Given the description of an element on the screen output the (x, y) to click on. 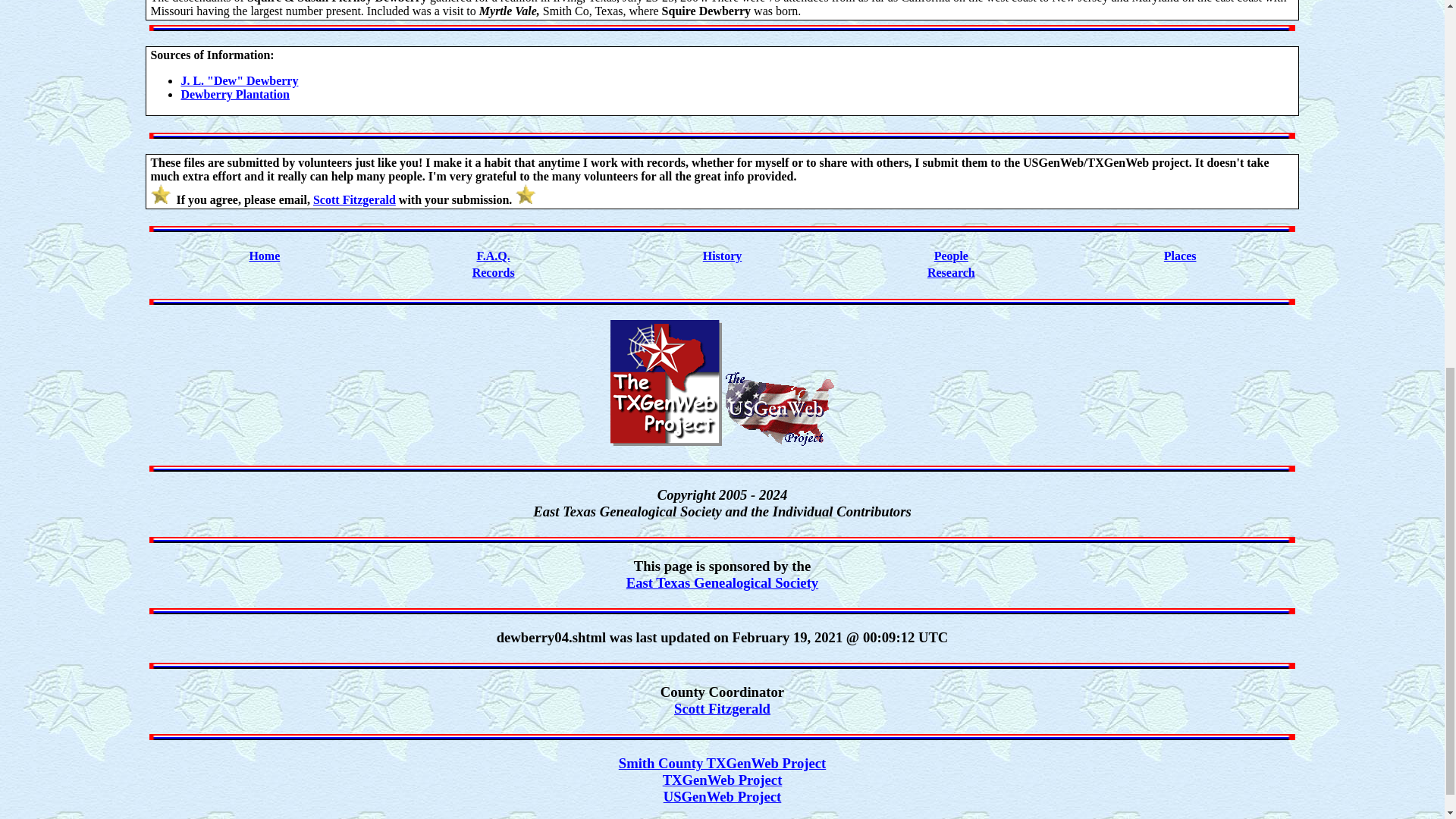
Records (493, 272)
Dewberry Plantation (234, 93)
Places (1179, 255)
TXGenWeb Project (722, 779)
USGenWeb Project (722, 796)
Research (951, 272)
Home (263, 255)
East Texas Genealogical Society (722, 582)
Smith County TXGenWeb Project (721, 763)
History (722, 255)
Scott Fitzgerald (722, 708)
J. L. "Dew" Dewberry (239, 80)
F.A.Q. (492, 255)
People (951, 255)
Scott Fitzgerald (354, 199)
